Given the description of an element on the screen output the (x, y) to click on. 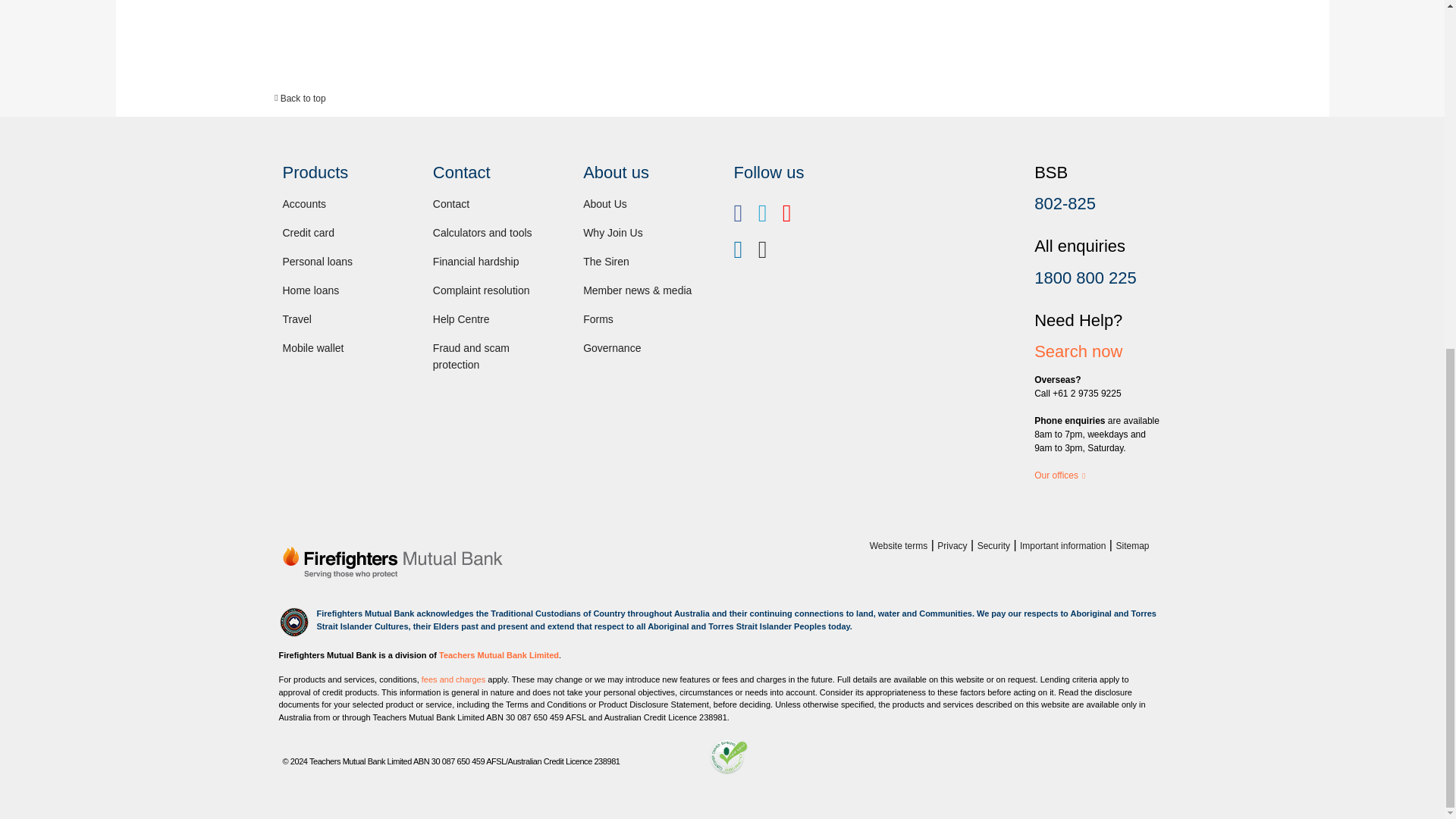
Financial hardship (475, 261)
Calculators and tools (482, 232)
Fraud and scam protection (470, 356)
Why Join Us (613, 232)
Complaint resolution (480, 290)
Personal loans (317, 261)
Mobile wallet (312, 347)
Contact (450, 203)
The Siren (605, 261)
Help Centre (460, 318)
Home loans (310, 290)
Credit card (307, 232)
About Us (605, 203)
Travel (296, 318)
Accounts (304, 203)
